Given the description of an element on the screen output the (x, y) to click on. 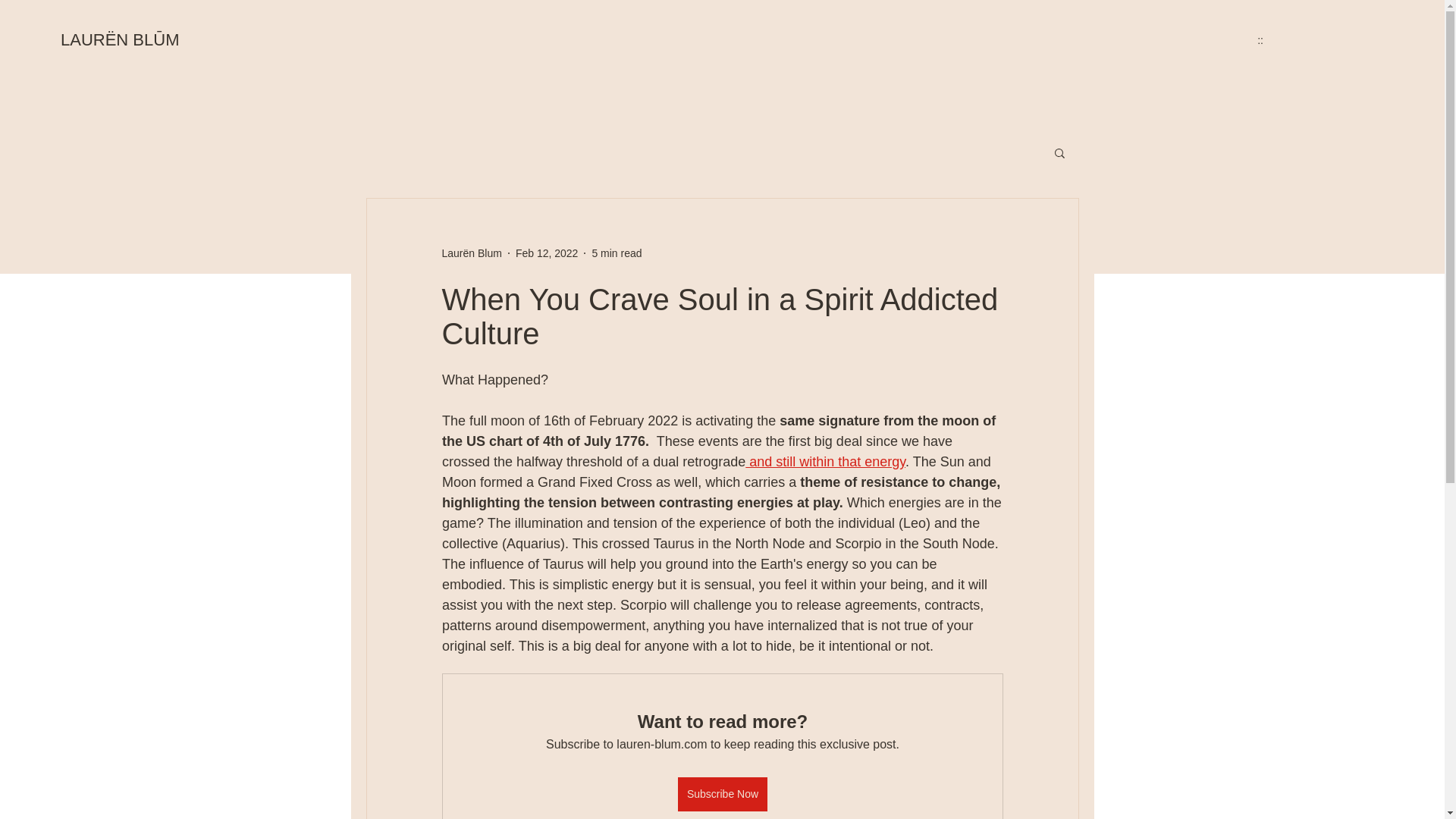
Feb 12, 2022 (546, 253)
Subscribe Now (722, 794)
5 min read (616, 253)
 and still within that energy (825, 461)
:: (1260, 39)
